Given the description of an element on the screen output the (x, y) to click on. 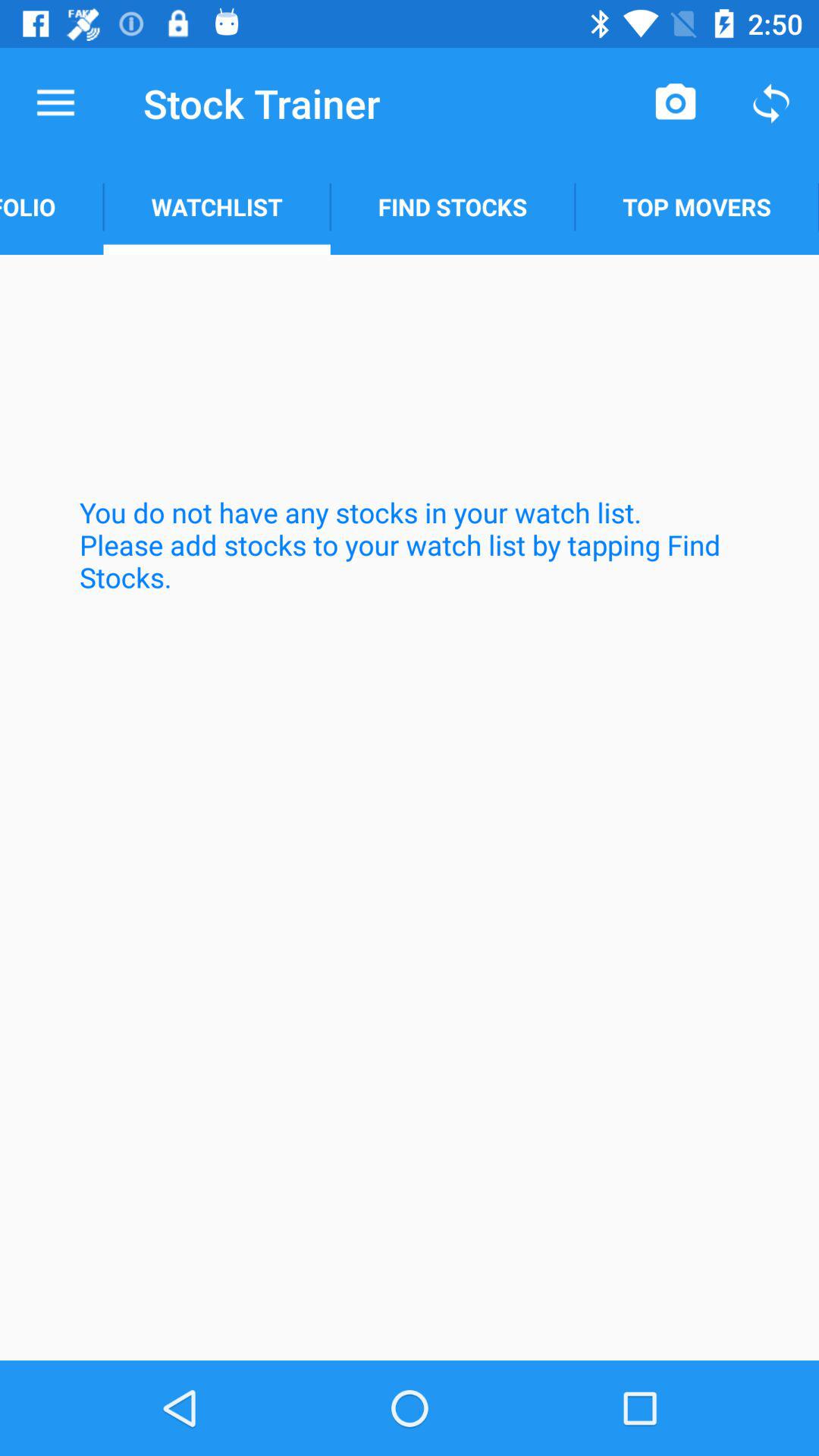
select app to the left of the find stocks icon (216, 206)
